Given the description of an element on the screen output the (x, y) to click on. 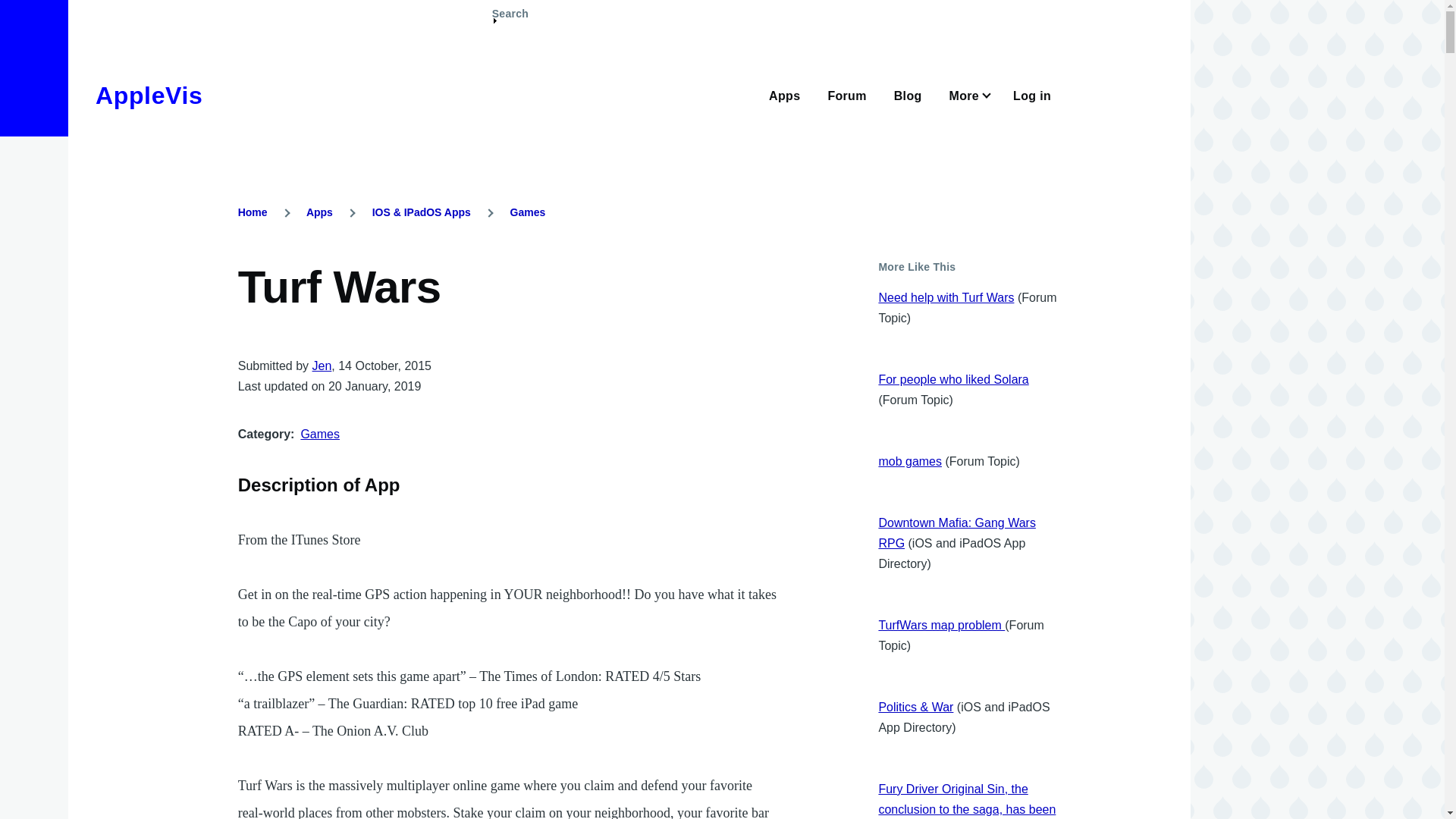
Home (149, 94)
Search (510, 20)
More community resources (968, 94)
Apps (319, 212)
AppleVis (149, 94)
Skip to main content (595, 6)
More (968, 94)
Blog (907, 94)
Jen (322, 365)
Log in (1032, 94)
Home (252, 212)
Games (528, 212)
Games (319, 433)
Browse and search our App Directories (783, 94)
Apps (783, 94)
